Given the description of an element on the screen output the (x, y) to click on. 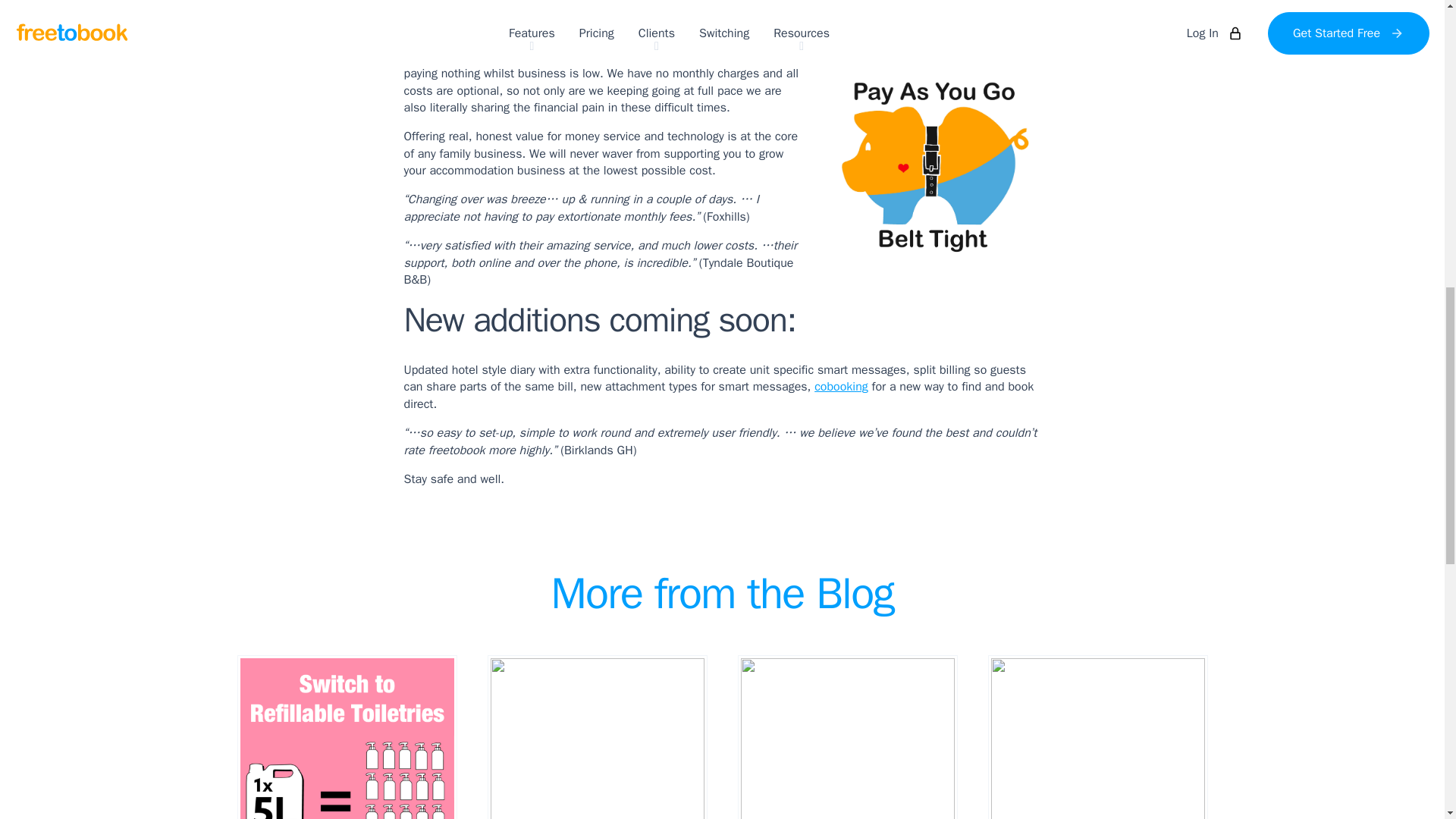
cobooking (840, 386)
